Given the description of an element on the screen output the (x, y) to click on. 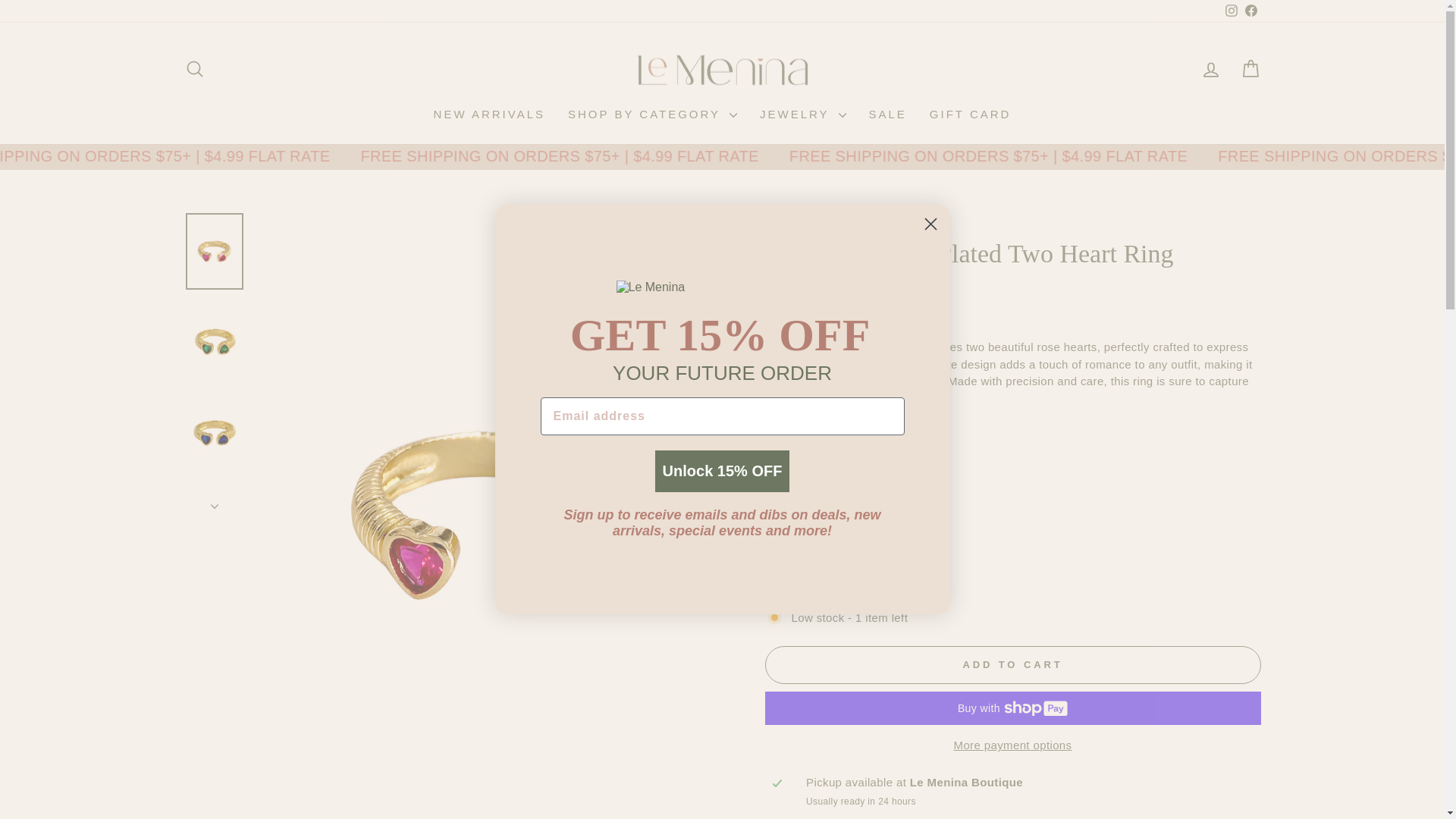
Blue (1230, 11)
Back to the frontpage (794, 576)
ICON-SEARCH (778, 225)
instagram (194, 68)
Le Menina Boutique  on Instagram (1231, 10)
Facebook (1210, 69)
NEW ARRIVALS (1230, 11)
ACCOUNT (1250, 11)
Le Menina Boutique  on Facebook (489, 114)
CART (1210, 69)
Green (1250, 11)
